Given the description of an element on the screen output the (x, y) to click on. 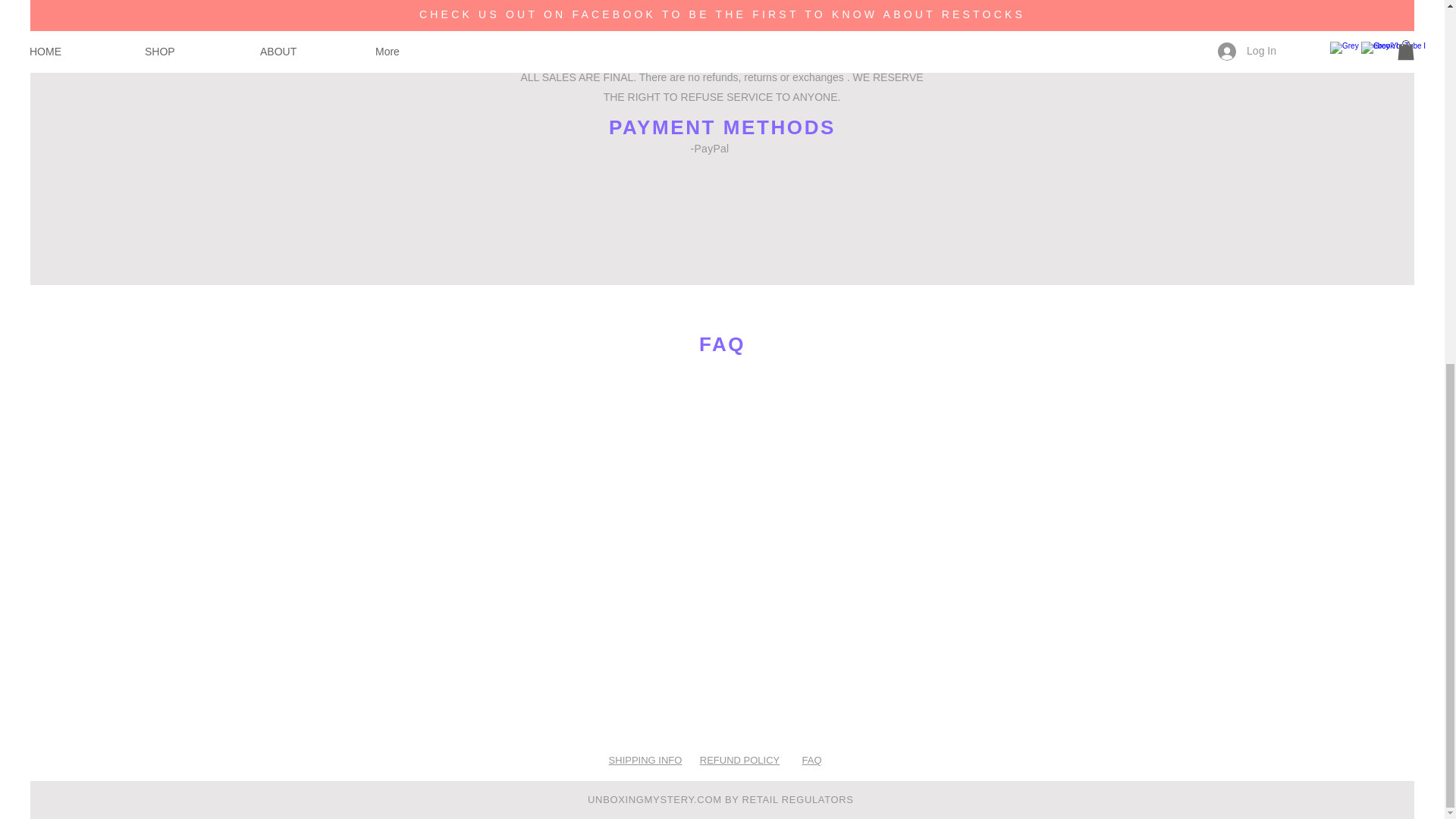
REFUND POLICY (739, 759)
SHIPPING INFO (645, 759)
FAQ (811, 759)
